Given the description of an element on the screen output the (x, y) to click on. 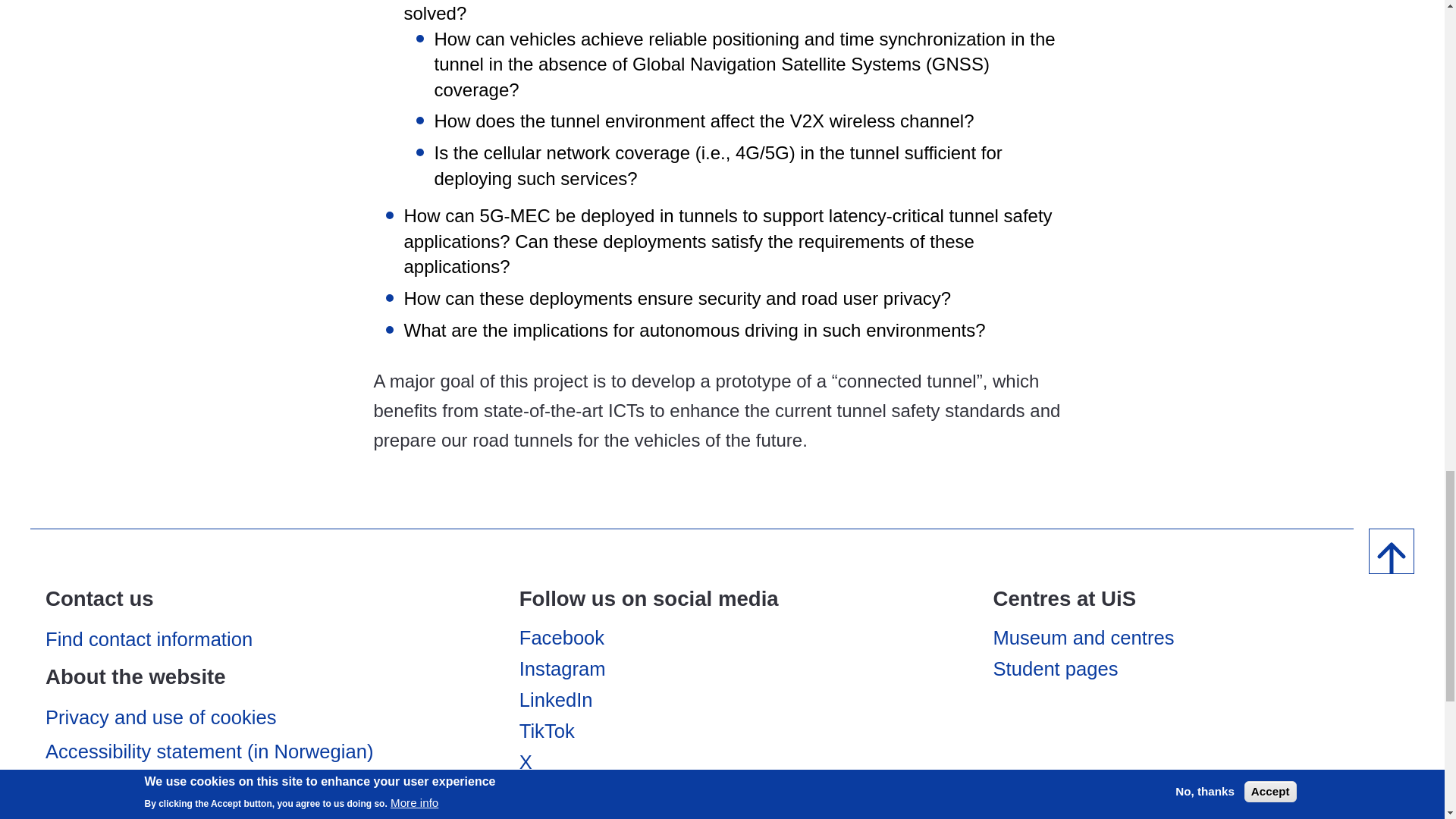
Student pages (1055, 668)
TikTok (547, 731)
Find contact information (248, 638)
Instagram (562, 668)
Museum and centres (1083, 637)
YouTube (557, 792)
LinkedIn (555, 699)
Privacy and use of cookies (248, 717)
Facebook (561, 637)
